Given the description of an element on the screen output the (x, y) to click on. 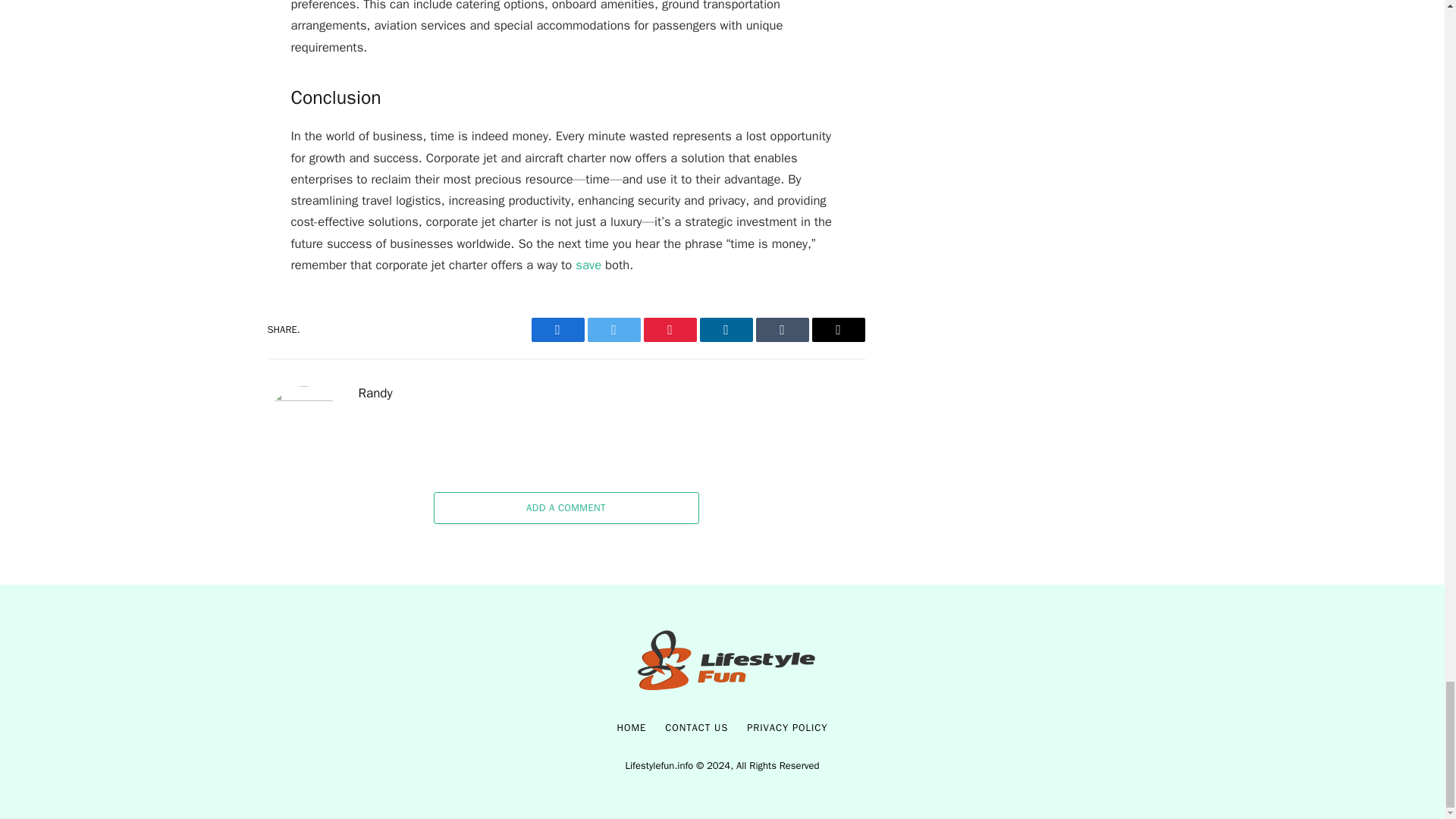
save (588, 264)
Facebook (557, 329)
